Given the description of an element on the screen output the (x, y) to click on. 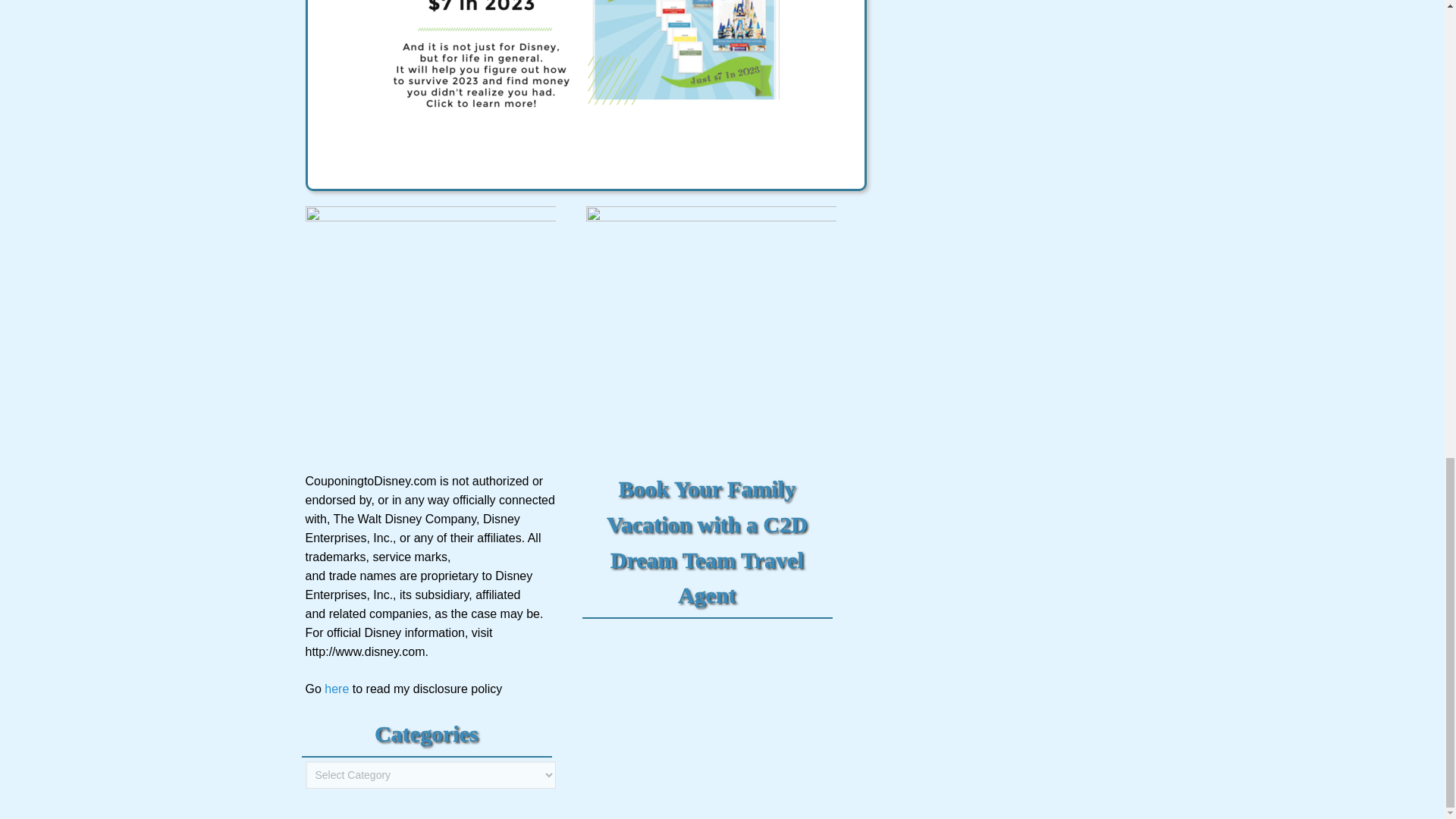
Couponing to Disney (336, 688)
